Given the description of an element on the screen output the (x, y) to click on. 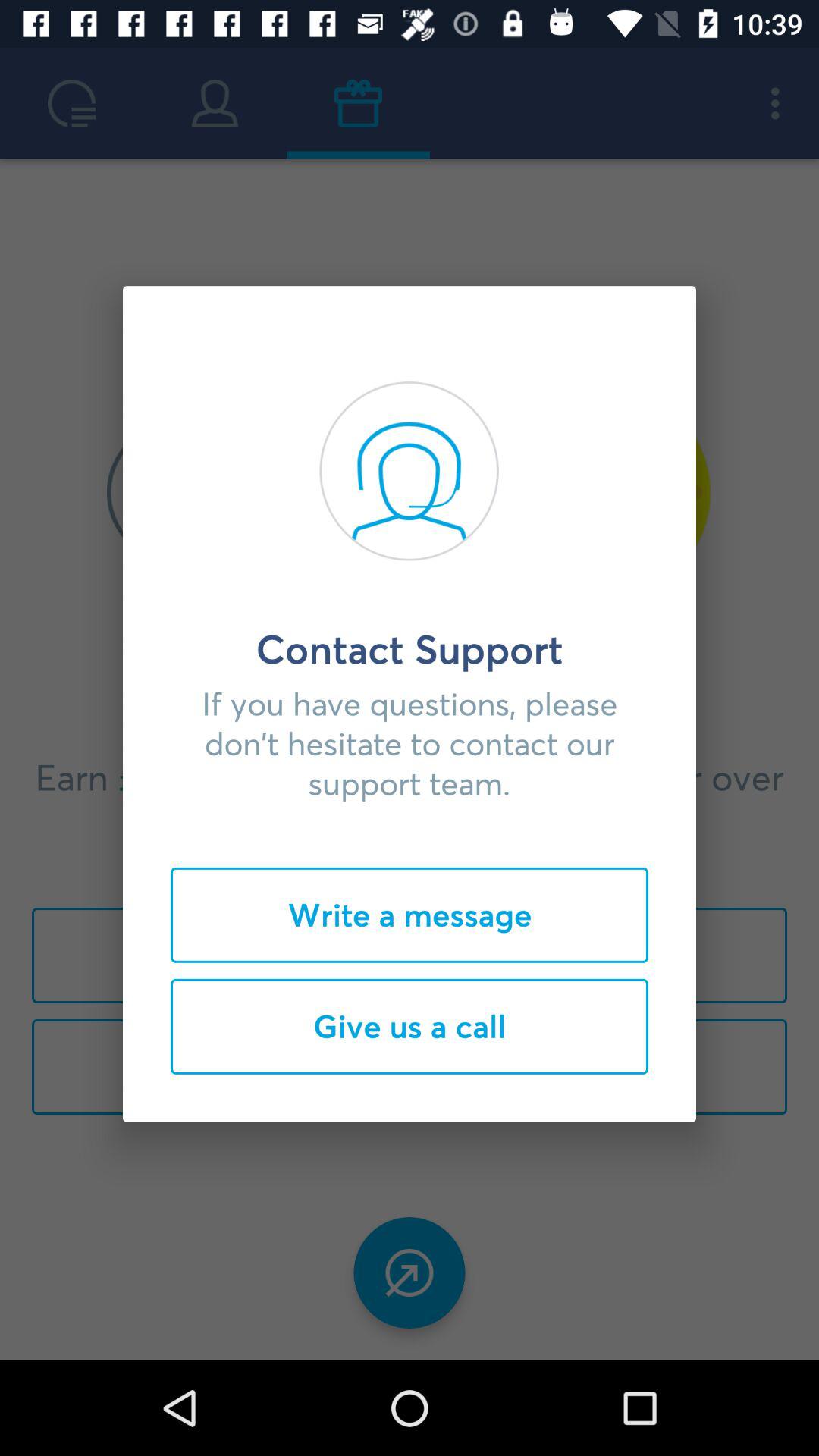
tap the give us a (409, 1026)
